Given the description of an element on the screen output the (x, y) to click on. 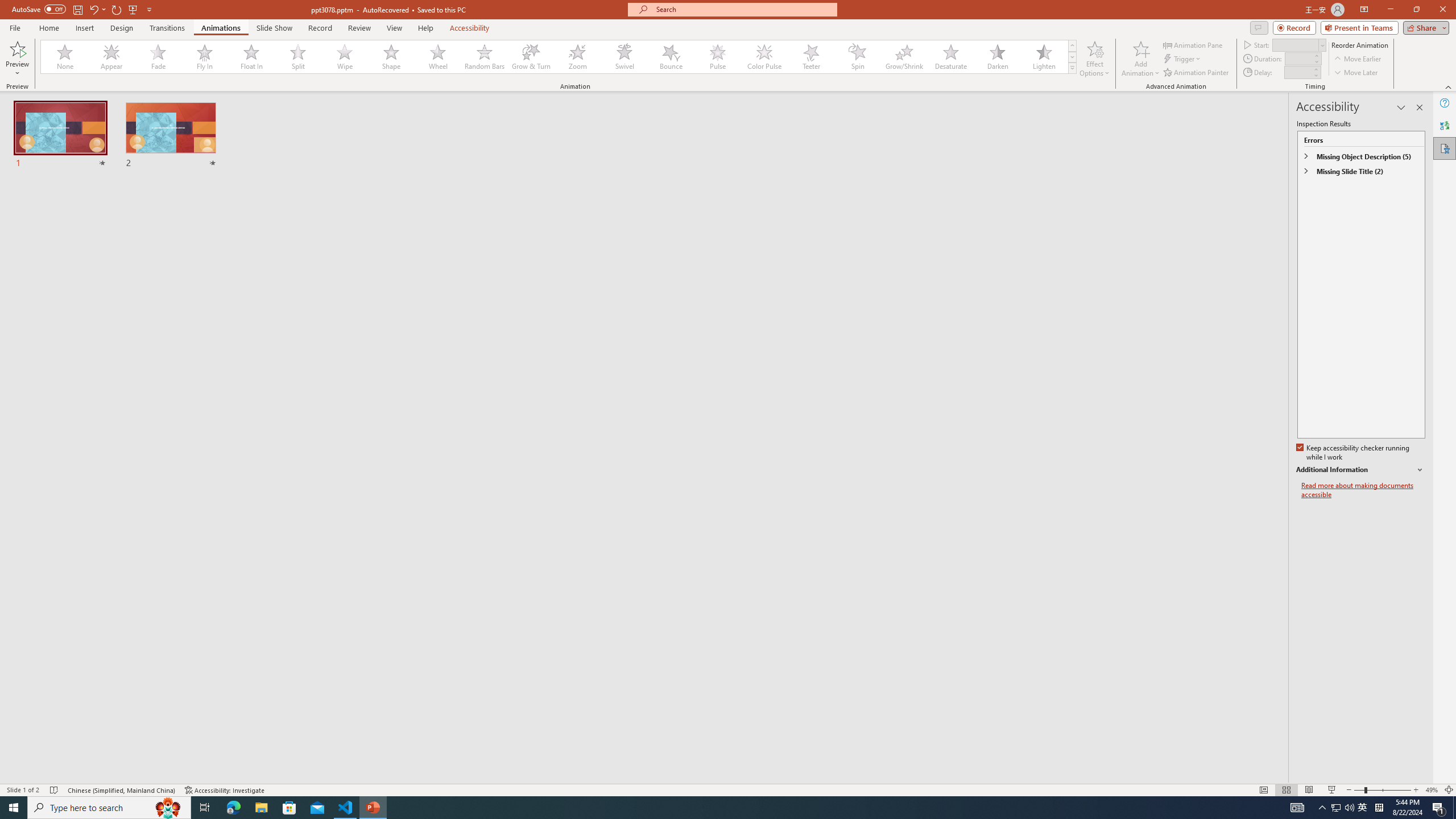
Animation Styles (1071, 67)
Appear (111, 56)
Shape (391, 56)
Animation Duration (1298, 58)
